Given the description of an element on the screen output the (x, y) to click on. 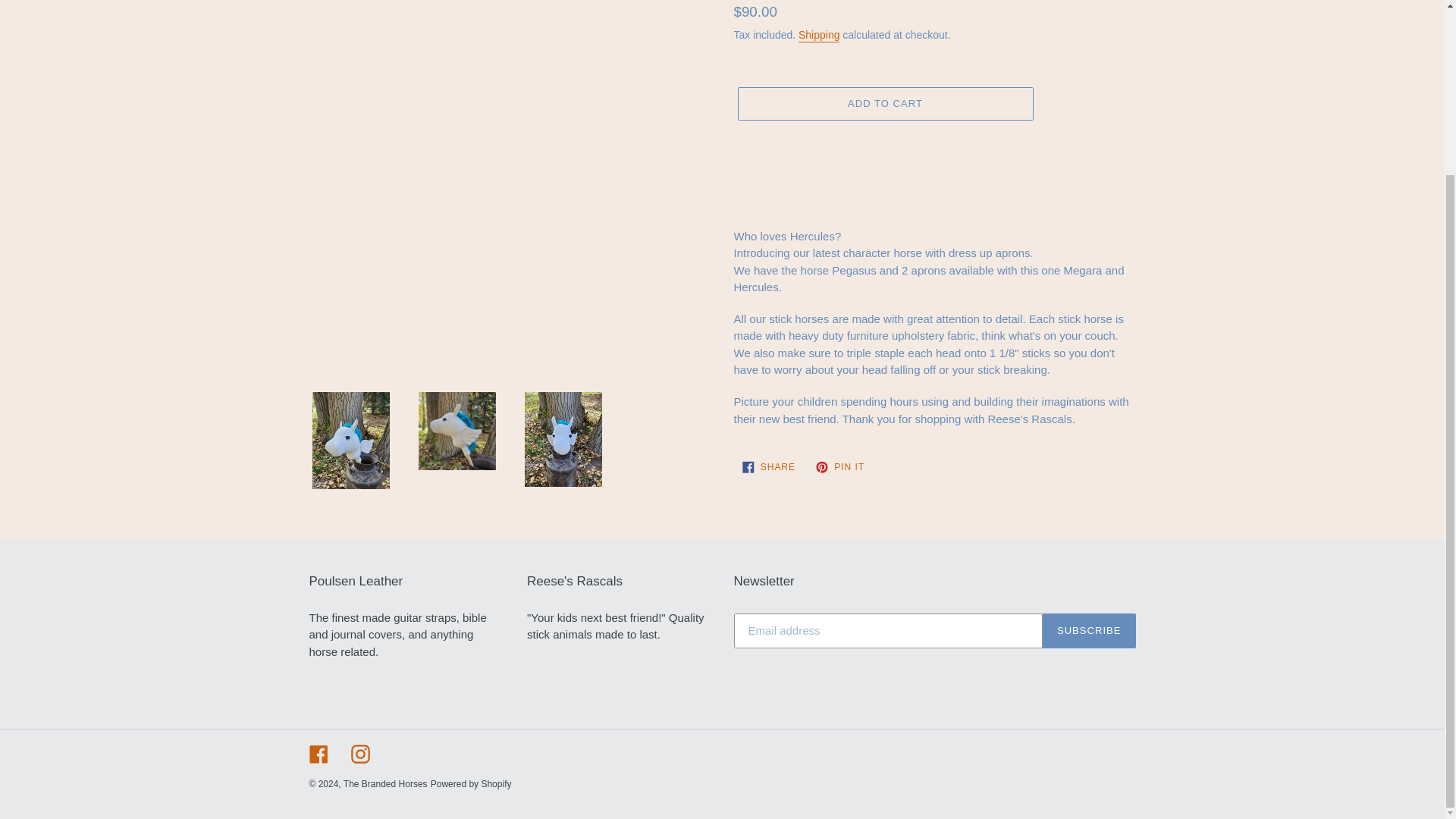
Shipping (818, 35)
ADD TO CART (884, 103)
SUBSCRIBE (840, 466)
Instagram (1088, 630)
Powered by Shopify (359, 753)
Facebook (471, 783)
The Branded Horses (768, 466)
